Given the description of an element on the screen output the (x, y) to click on. 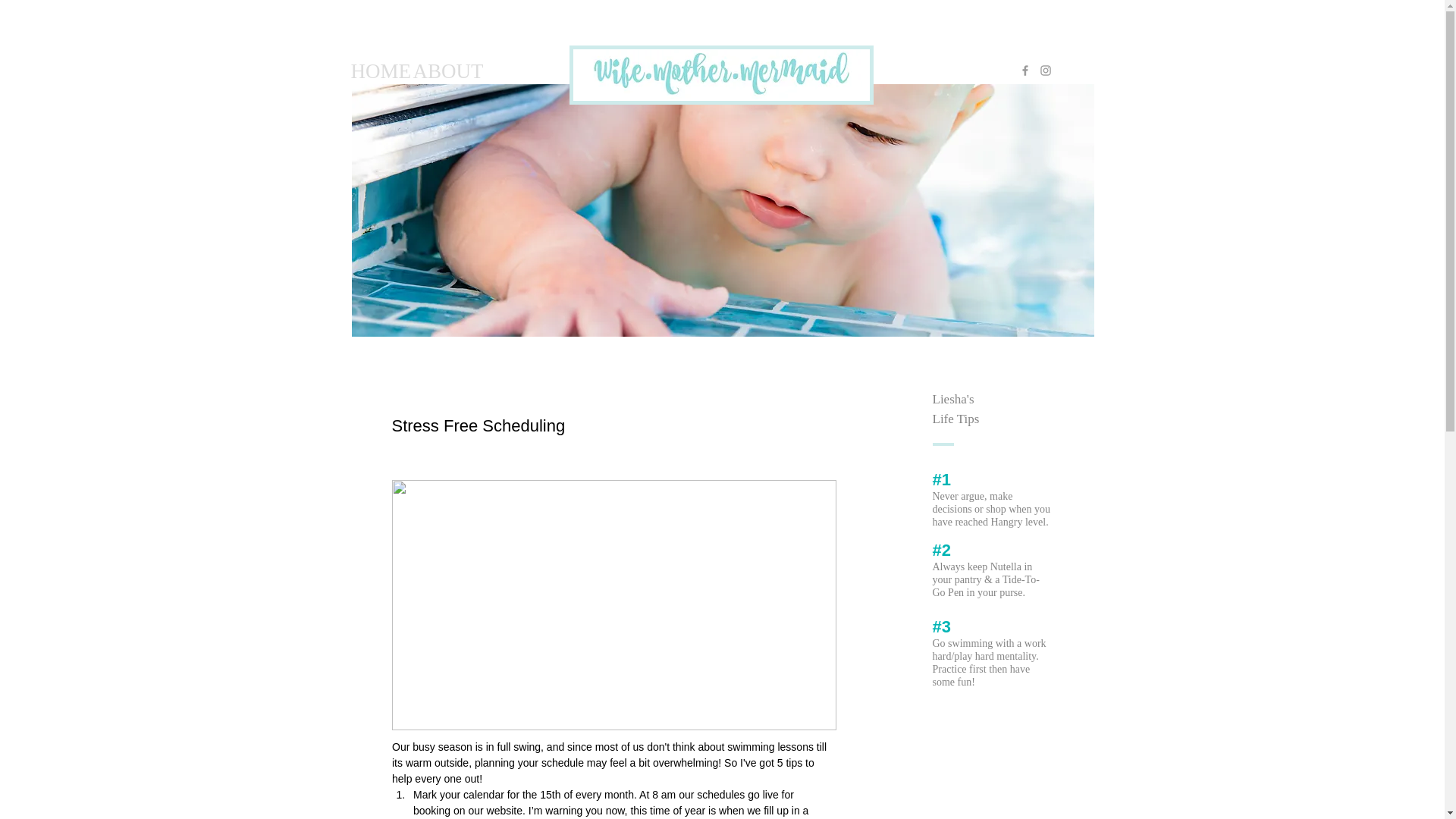
ABOUT (436, 70)
HOME (370, 70)
